Given the description of an element on the screen output the (x, y) to click on. 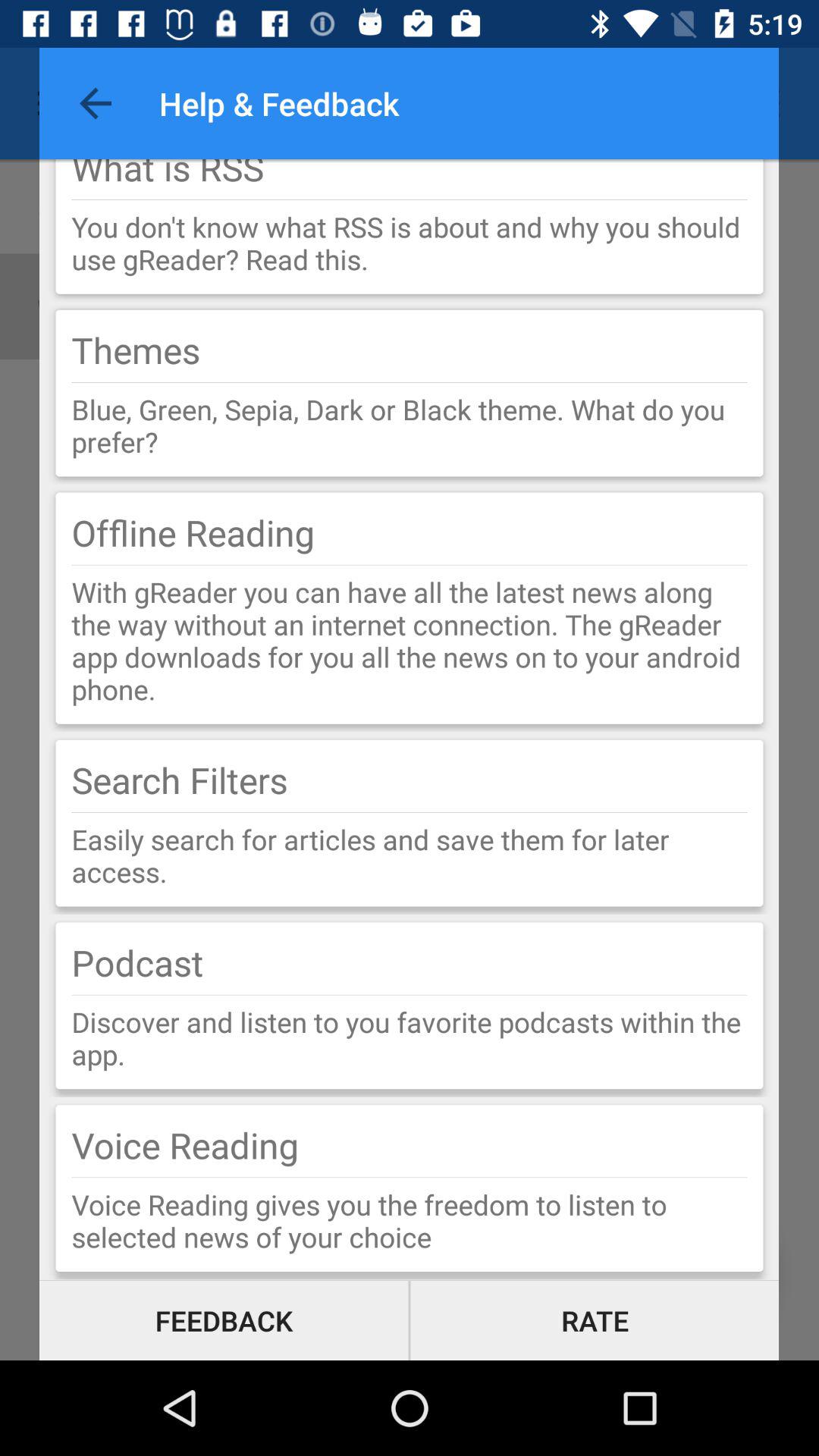
click the item above easily search for icon (409, 812)
